Given the description of an element on the screen output the (x, y) to click on. 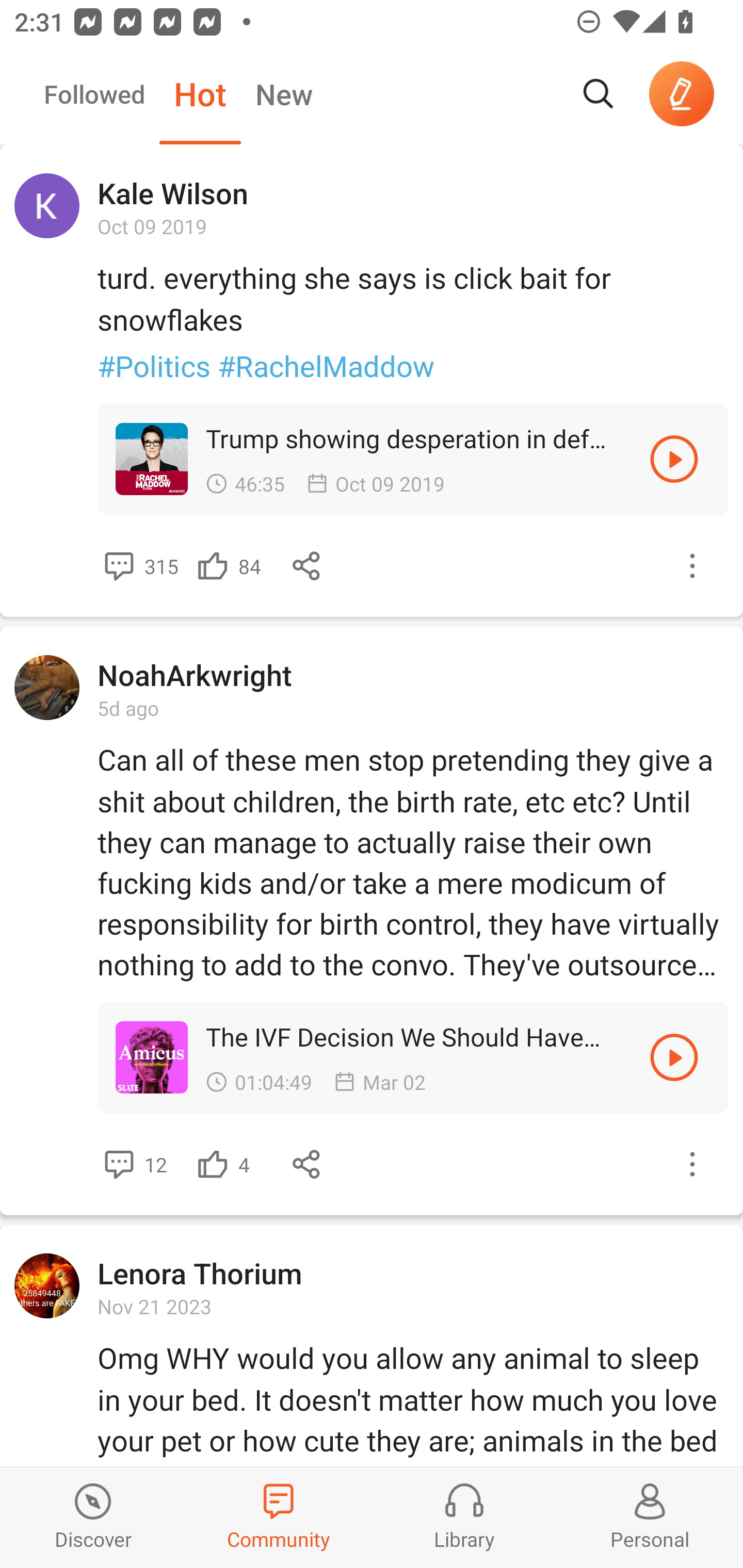
Followed (93, 93)
Hot (199, 93)
New (283, 93)
 (673, 458)
 (119, 565)
 (212, 565)
 (307, 565)
 (692, 565)
 (673, 1057)
 (119, 1164)
 (212, 1164)
 (307, 1164)
 (692, 1164)
Discover (92, 1517)
Community (278, 1517)
Library (464, 1517)
Profiles and Settings Personal (650, 1517)
